Given the description of an element on the screen output the (x, y) to click on. 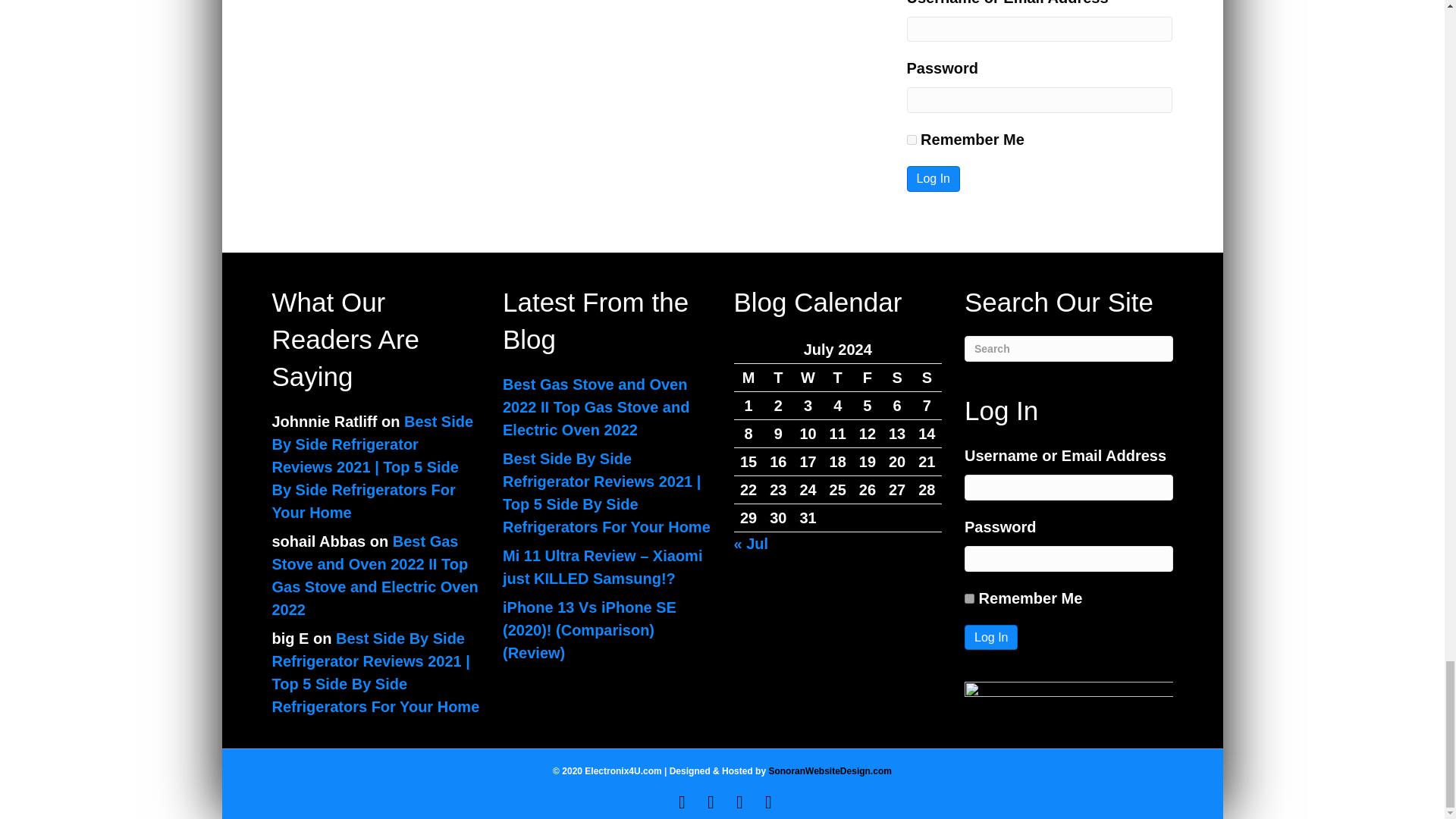
forever (968, 598)
forever (912, 139)
